Given the description of an element on the screen output the (x, y) to click on. 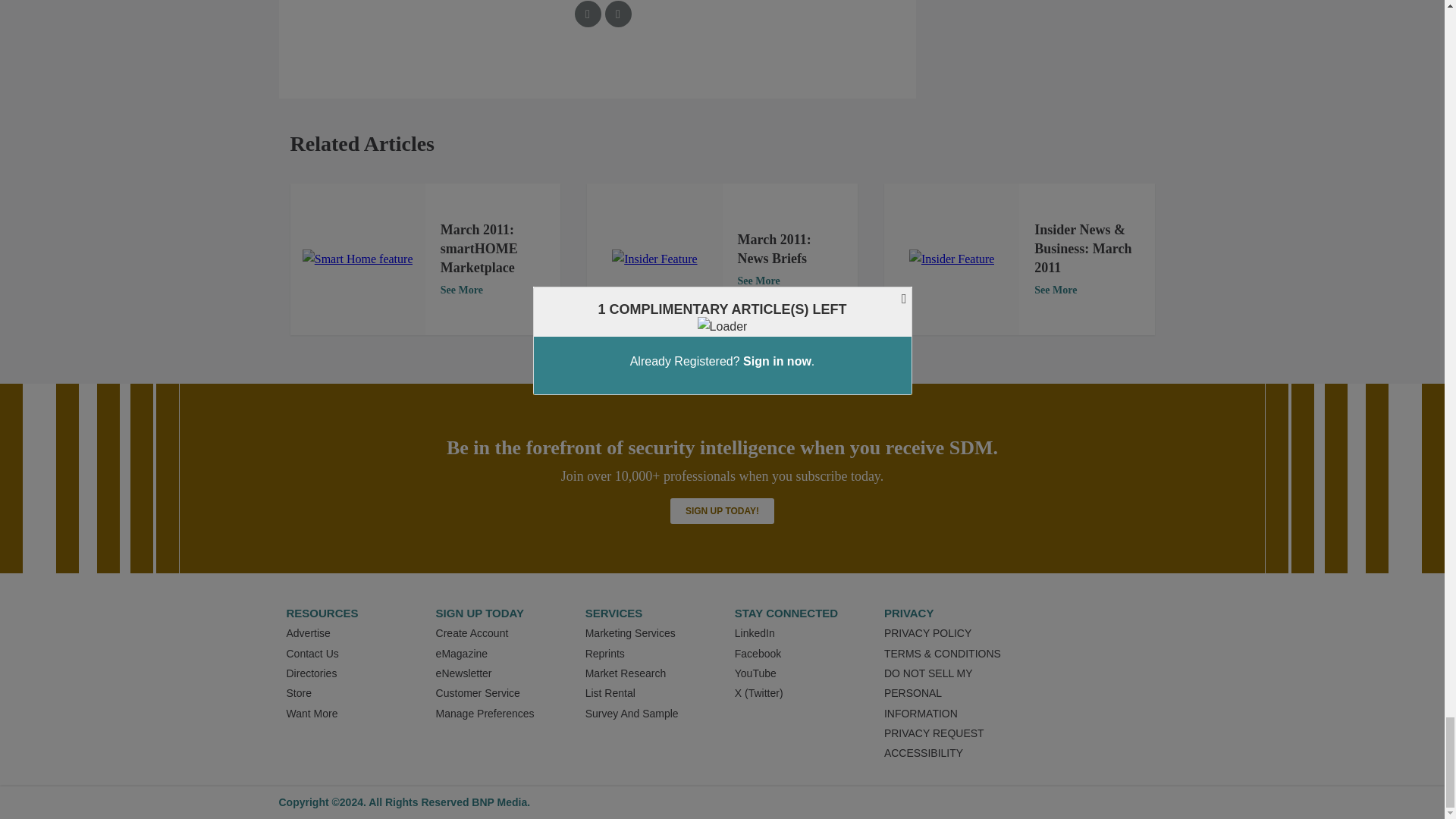
Insider Feature (654, 259)
Smart Home feature (357, 259)
Insider Feature (951, 259)
